Given the description of an element on the screen output the (x, y) to click on. 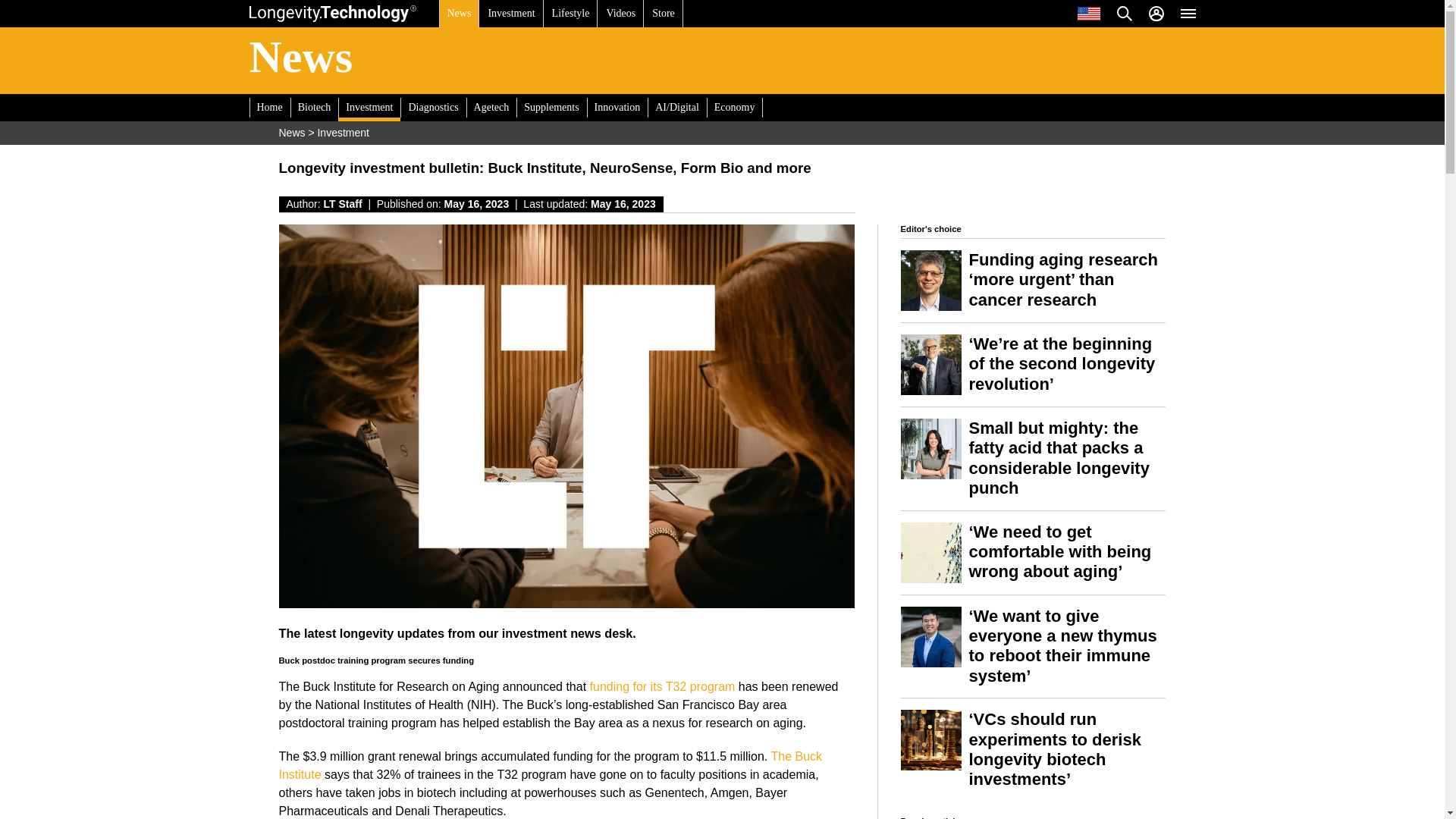
Posts by LT Staff (342, 203)
Store (662, 13)
Investment (511, 13)
News (458, 13)
Videos (619, 13)
Lifestyle (570, 13)
